Given the description of an element on the screen output the (x, y) to click on. 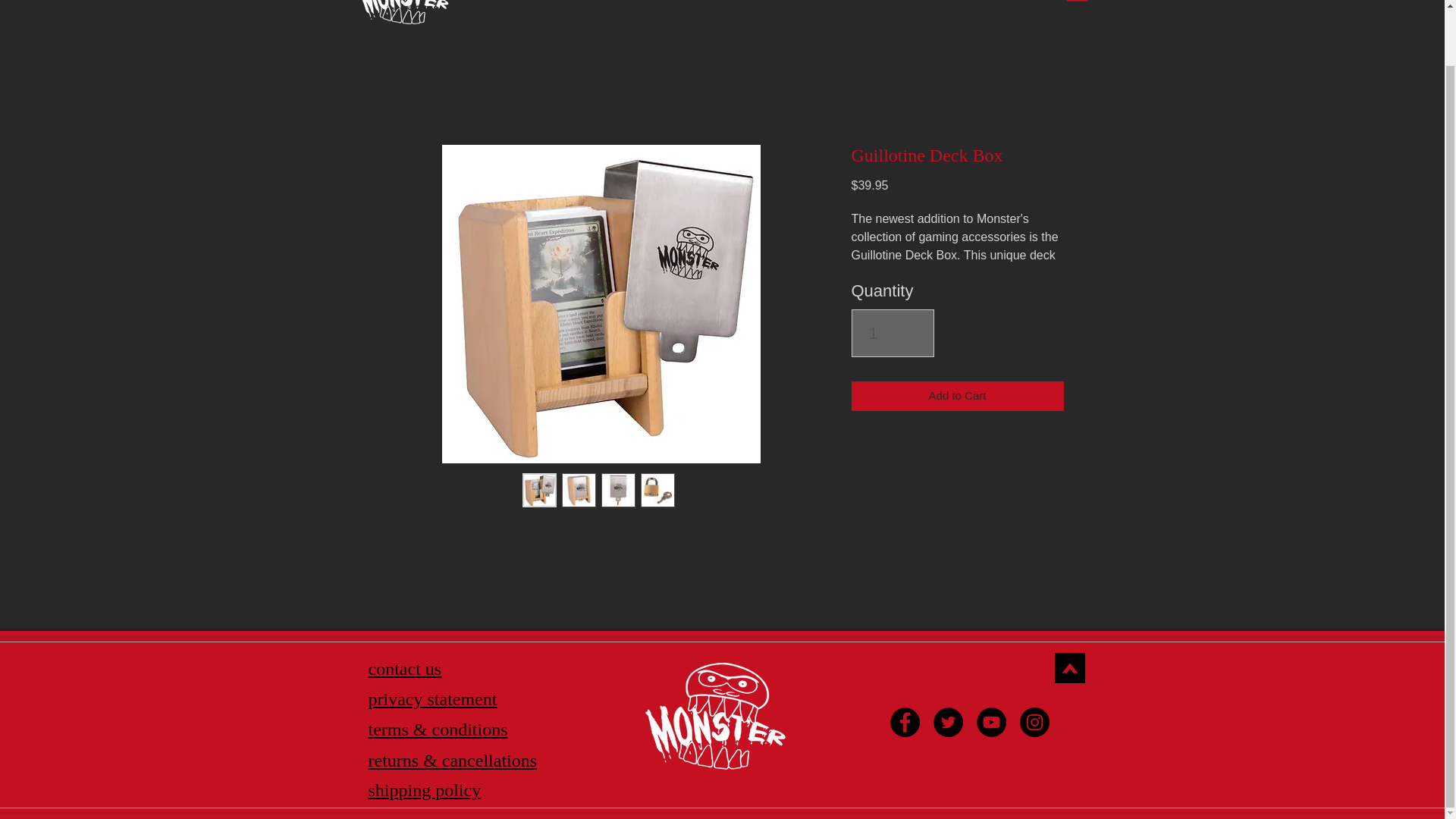
Our Kickstarter Journey (679, 4)
Home (482, 4)
FAQ (920, 4)
Where to Buy (831, 4)
Shop (553, 4)
Add to Cart (956, 396)
shipping policy (424, 790)
Contact Us (1005, 4)
1 (891, 333)
contact us (405, 668)
